Given the description of an element on the screen output the (x, y) to click on. 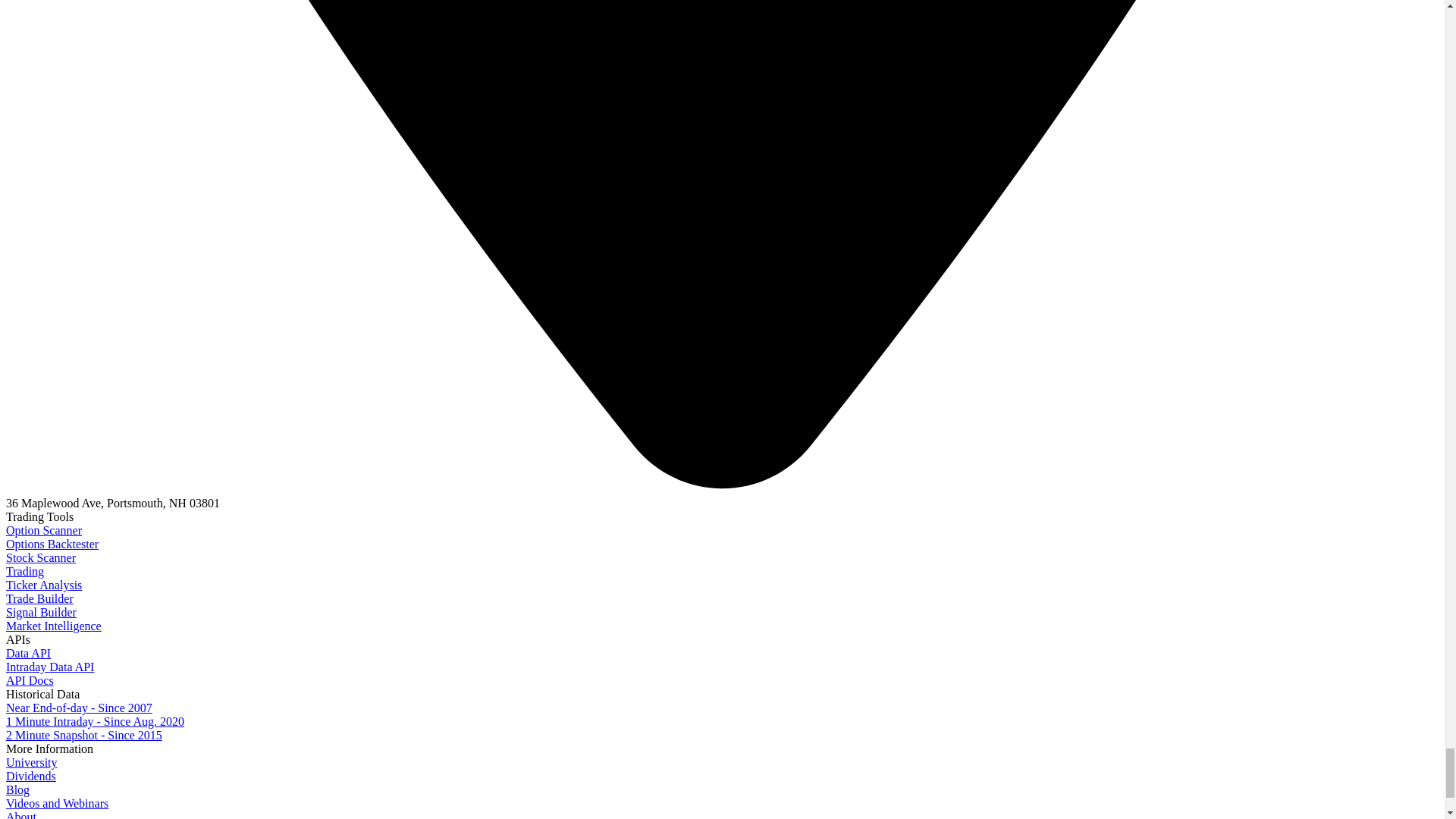
Data API (27, 653)
Videos and Webinars (56, 802)
Trade Builder (39, 598)
1 Minute Intraday - Since Aug. 2020 (94, 721)
Signal Builder (41, 612)
Market Intelligence (53, 625)
Trading (24, 571)
Ticker Analysis (43, 584)
About (20, 814)
API Docs (29, 680)
Blog (17, 789)
Near End-of-day - Since 2007 (78, 707)
2 Minute Snapshot - Since 2015 (83, 735)
Option Scanner (43, 530)
Intraday Data API (49, 666)
